Given the description of an element on the screen output the (x, y) to click on. 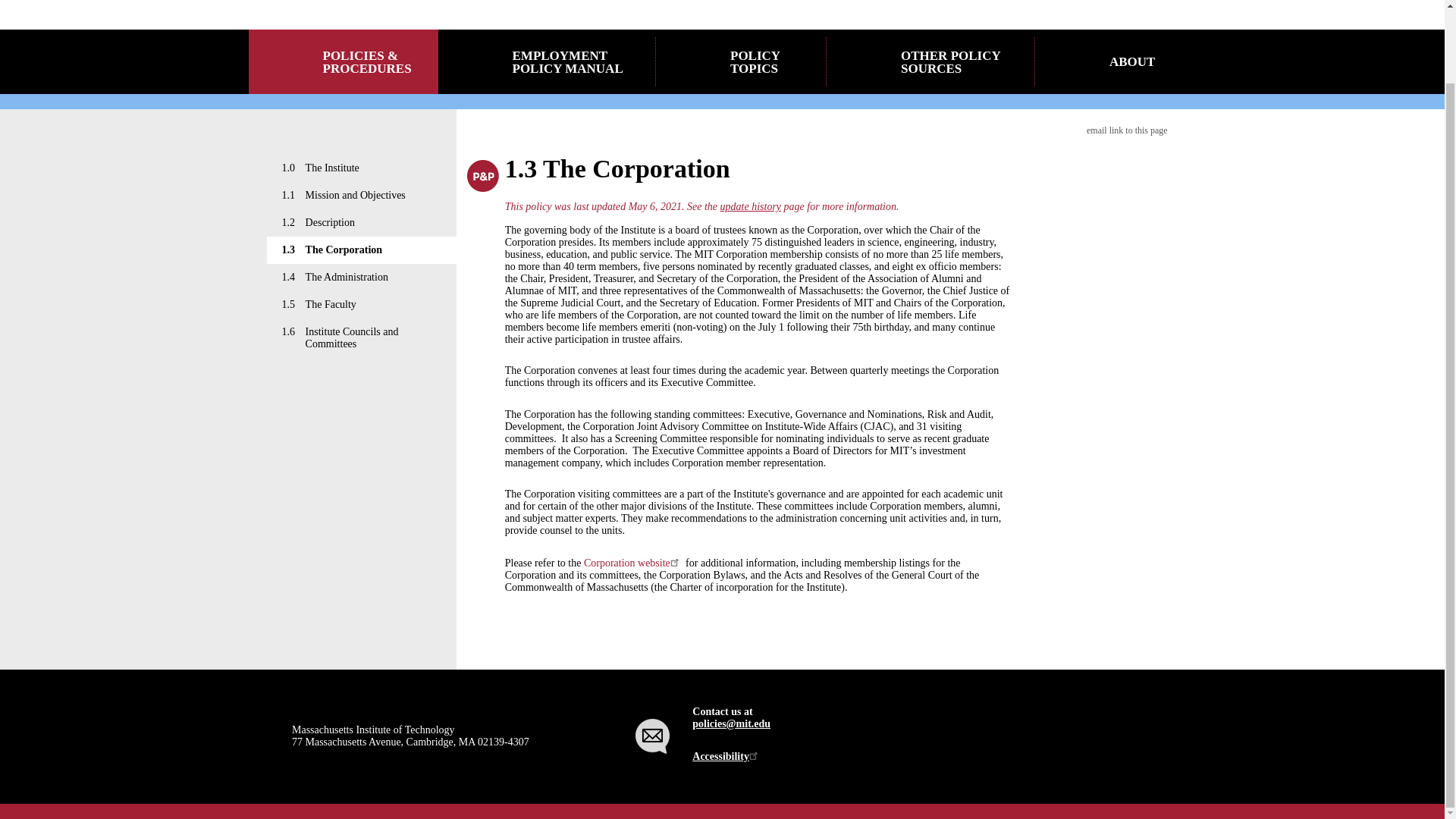
MIT Policies (401, 2)
OTHER POLICY SOURCES (931, 61)
Home (401, 2)
EMPLOYMENT POLICY MANUAL (547, 61)
POLICY TOPICS (741, 61)
